Given the description of an element on the screen output the (x, y) to click on. 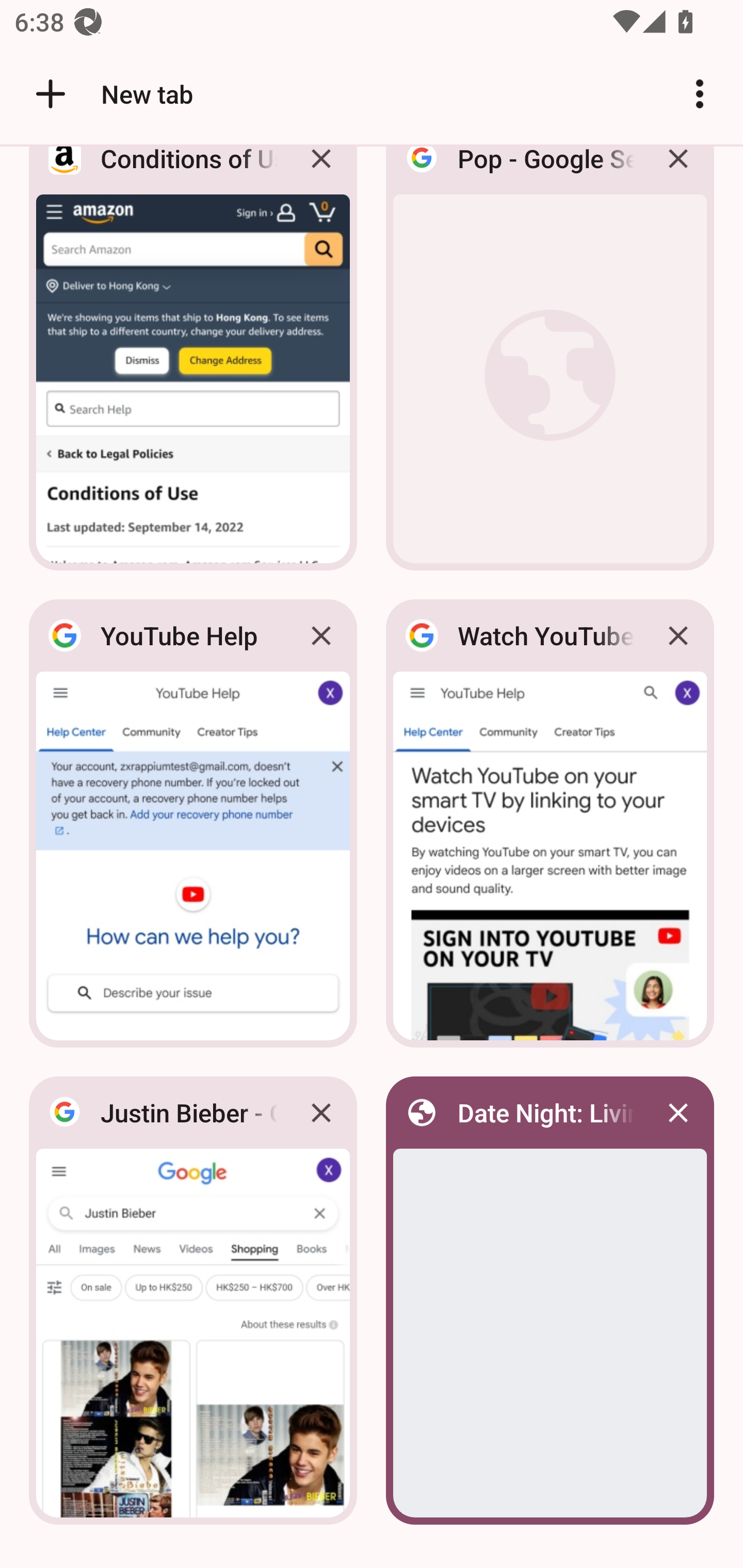
Open the home page (43, 93)
Customize and control Google Chrome (699, 93)
Close Pop - Google Search tab (677, 173)
Close YouTube Help tab (320, 635)
Close Justin Bieber - Google Shopping tab (320, 1112)
